Given the description of an element on the screen output the (x, y) to click on. 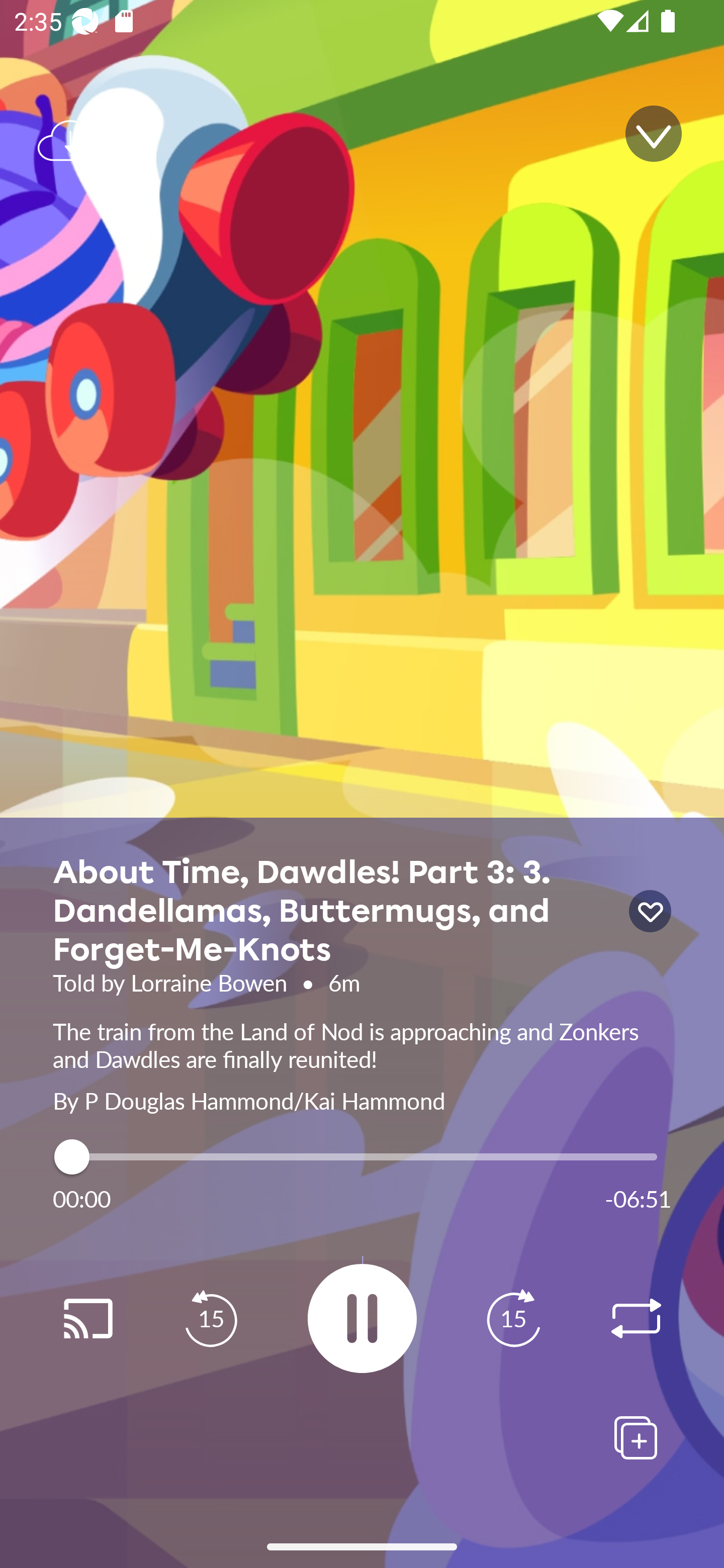
lock icon (650, 910)
4.854369E-6 Pause (361, 1317)
Replay (87, 1318)
Replay 15 (210, 1318)
Replay 15 (513, 1318)
Replay (635, 1318)
Add To Playlists (635, 1437)
